Given the description of an element on the screen output the (x, y) to click on. 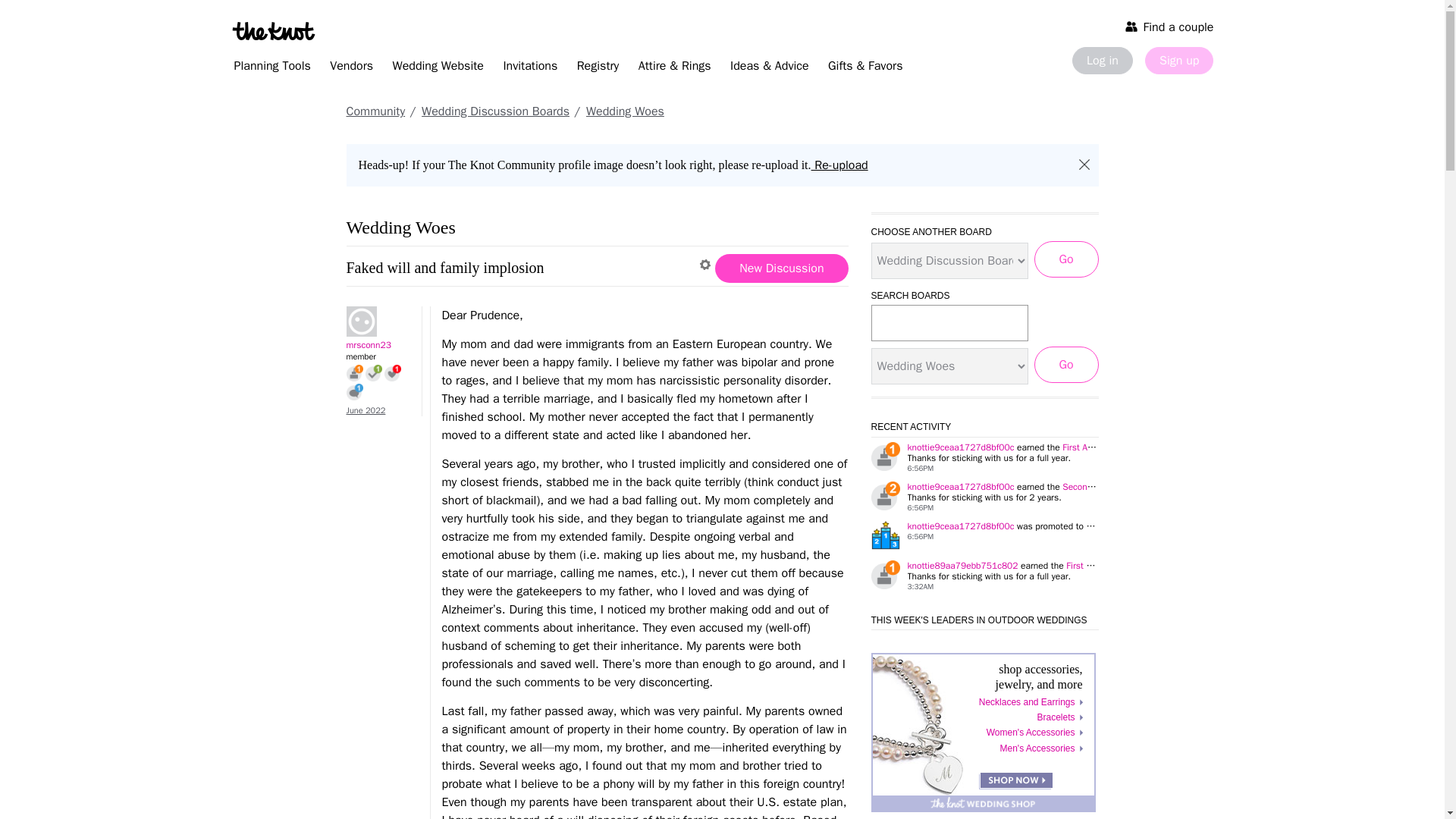
Planning Tools (271, 68)
Registry (598, 68)
Invitations (529, 68)
Go (1066, 364)
Sign up (1178, 60)
June 23, 2022 3:47PM (365, 409)
First Answer (373, 372)
member (379, 356)
Find a couple (1169, 25)
mrsconn23 (376, 321)
Go (1066, 258)
Wedding Website (438, 68)
First Comment (354, 392)
Vendors (350, 68)
Log in (1101, 60)
